Given the description of an element on the screen output the (x, y) to click on. 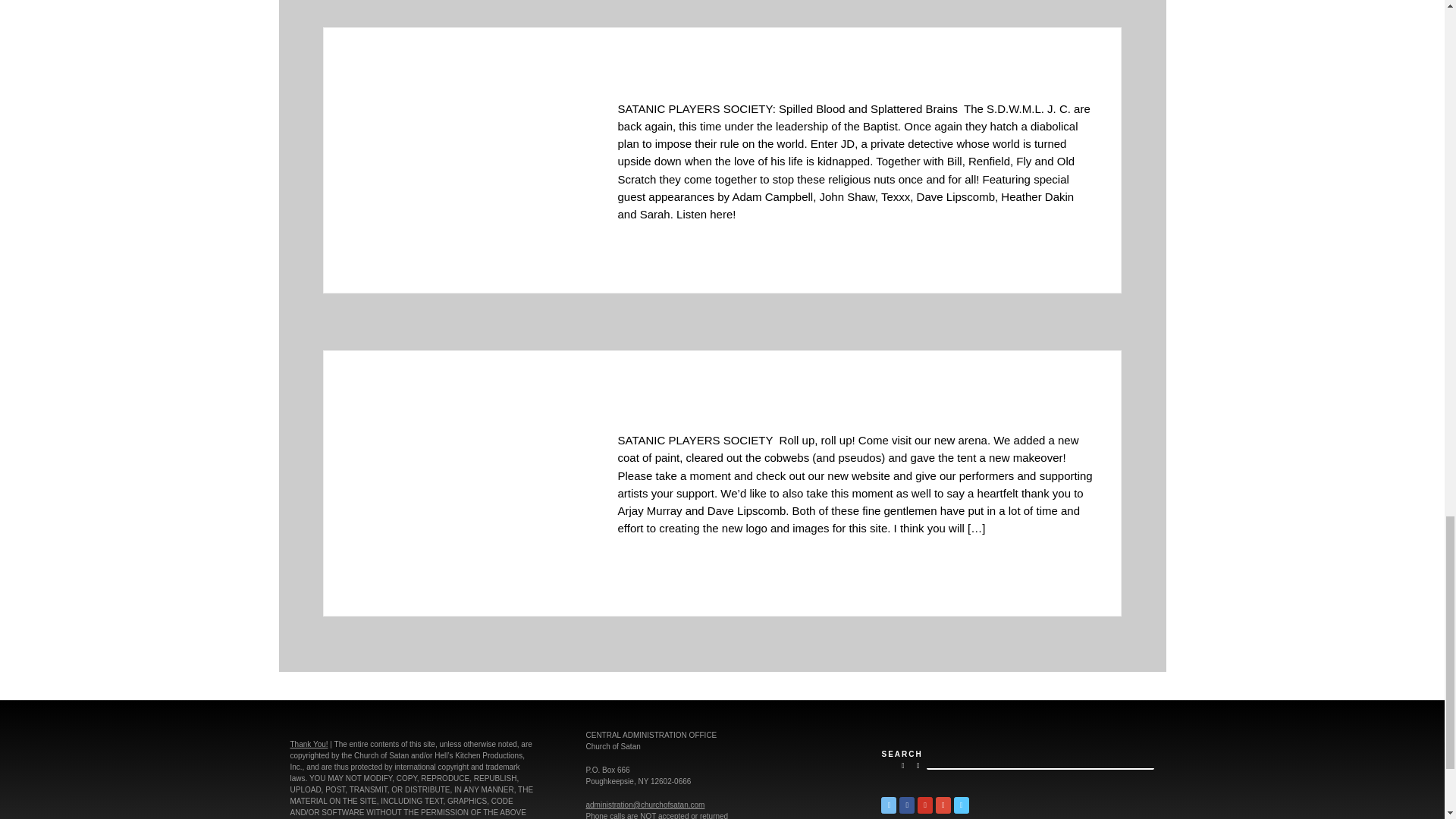
Church of Satan on Facebook (906, 805)
Church of Satan on Twitter (888, 805)
Church of Satan on Vimeo (961, 805)
A Very Special Thank You! (308, 744)
Church of Satan on YouTube (925, 805)
